Given the description of an element on the screen output the (x, y) to click on. 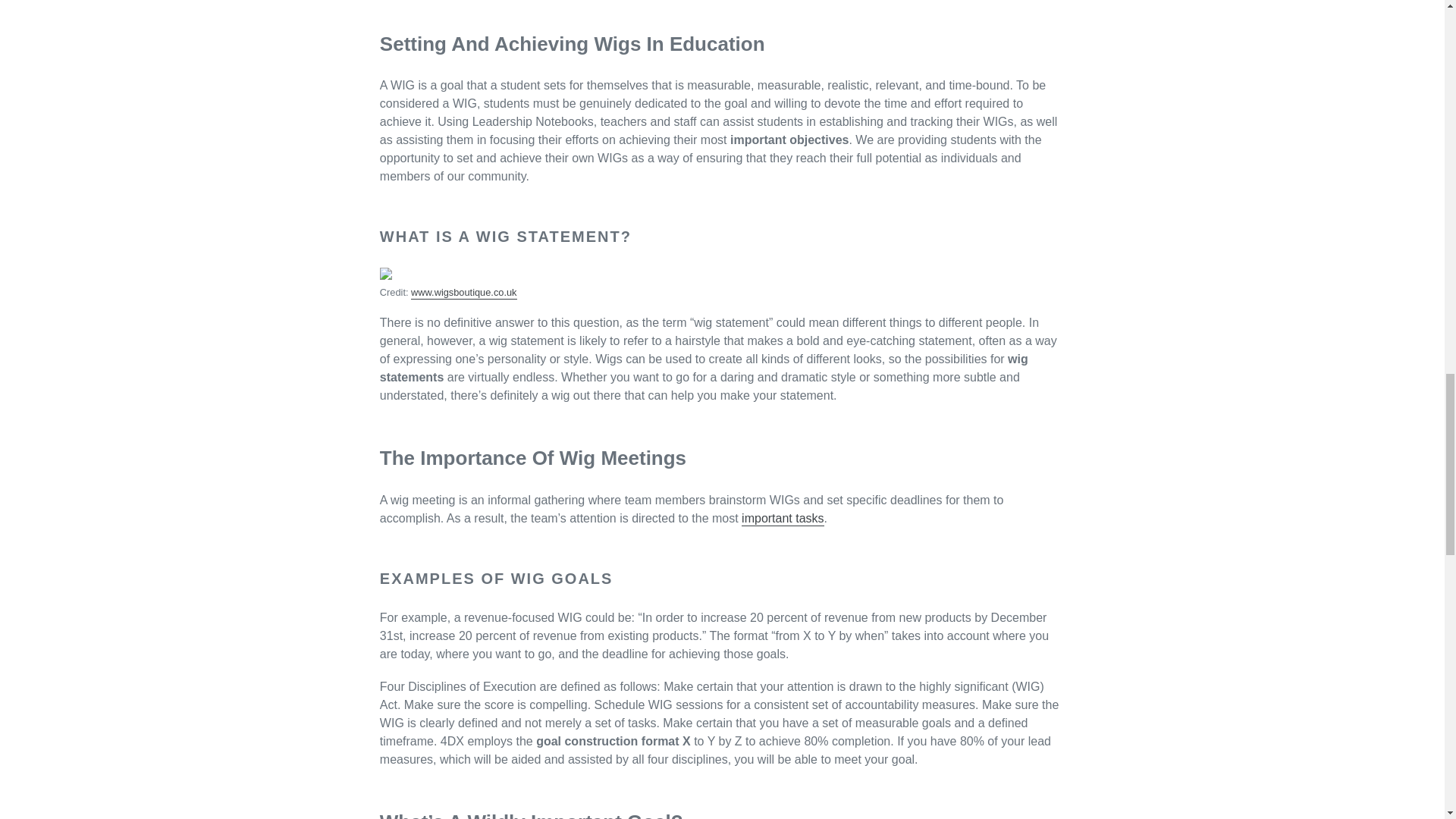
important tasks (782, 518)
www.wigsboutique.co.uk (463, 292)
